Given the description of an element on the screen output the (x, y) to click on. 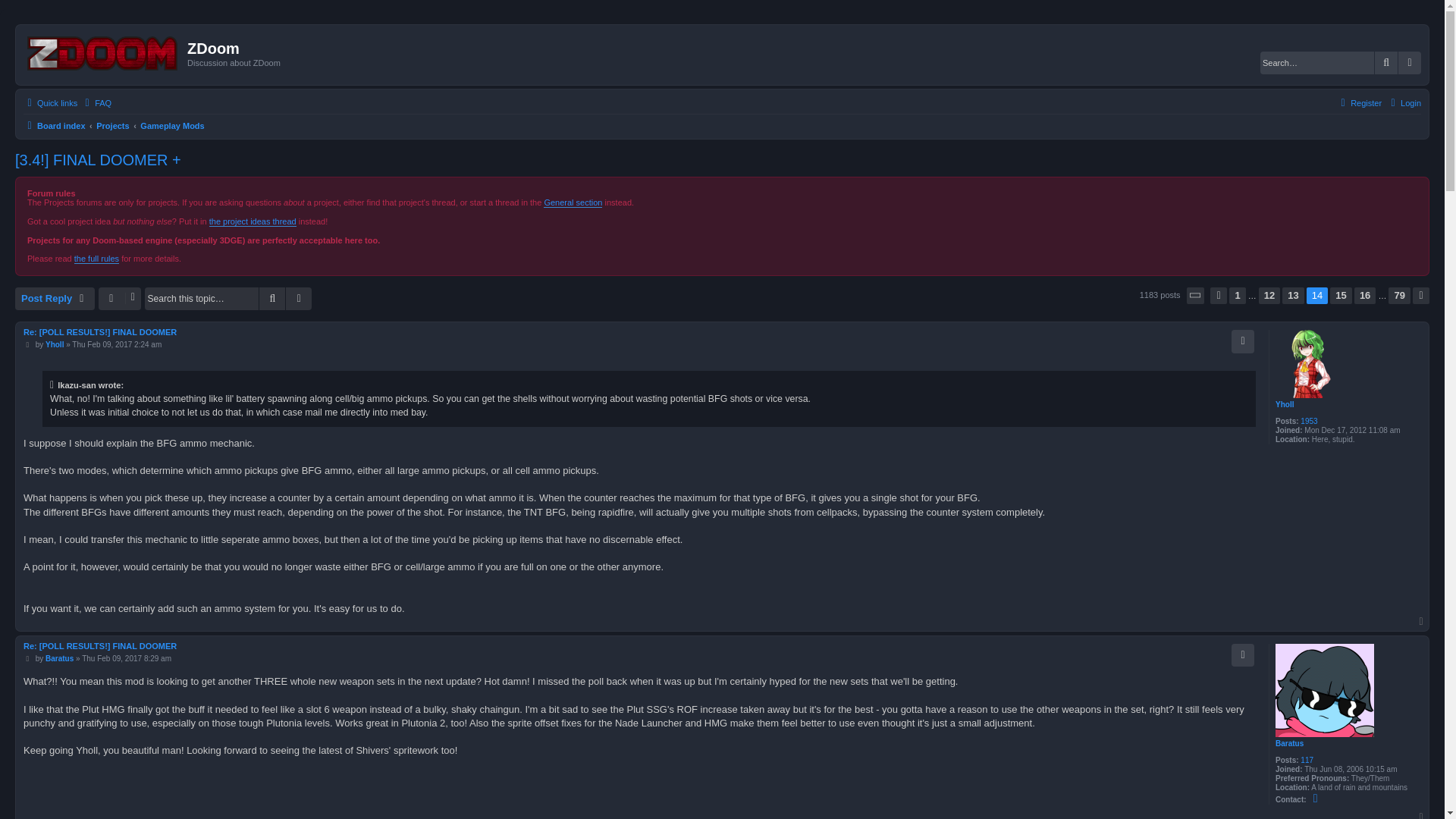
Advanced search (1409, 62)
15 (1340, 295)
1 (1236, 295)
Board index (103, 54)
16 (1364, 295)
Projects (112, 126)
Search (272, 298)
12 (1269, 295)
Page of (1195, 295)
Board index (54, 126)
